Given the description of an element on the screen output the (x, y) to click on. 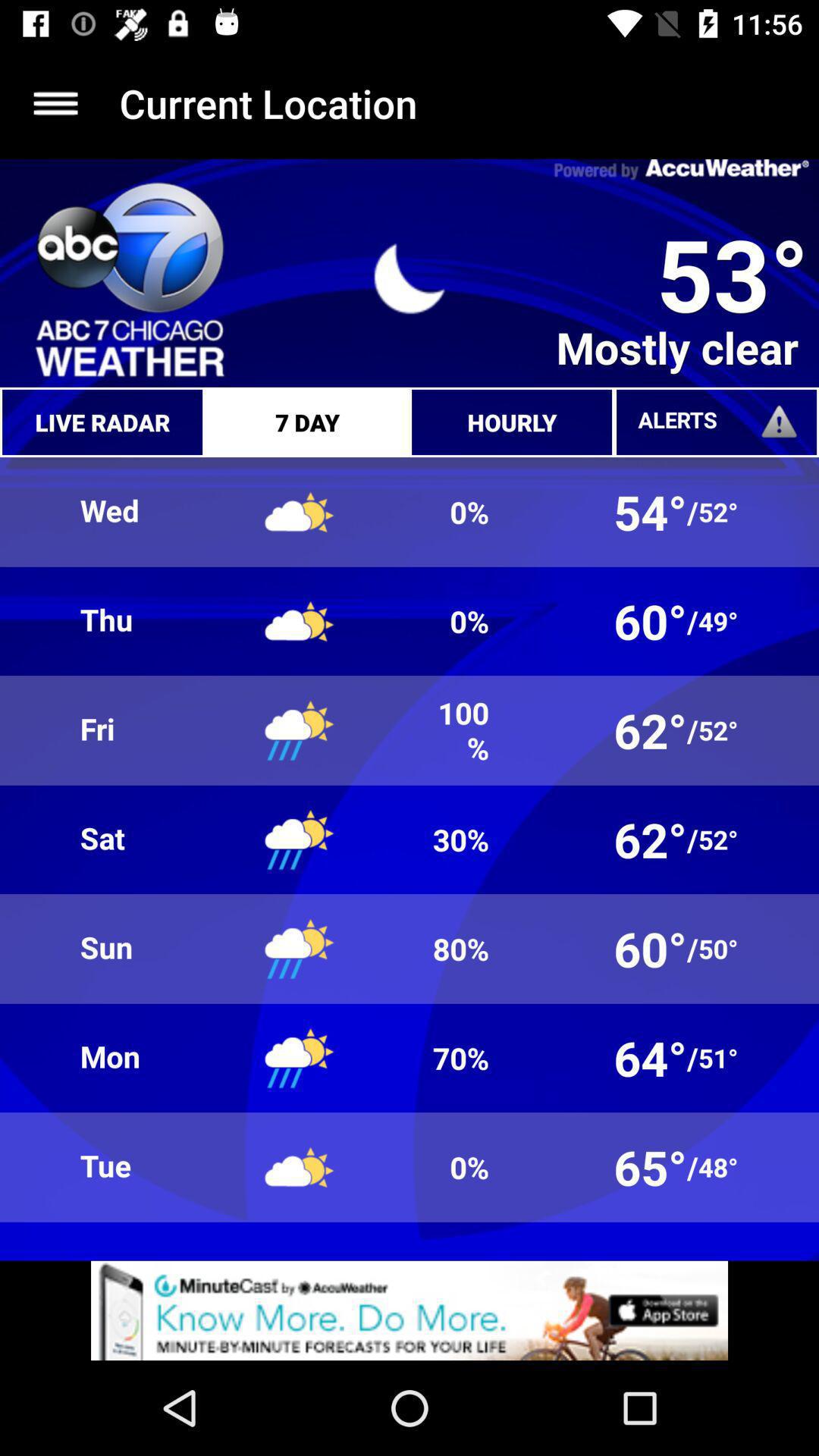
this is an advertisement (409, 1310)
